Given the description of an element on the screen output the (x, y) to click on. 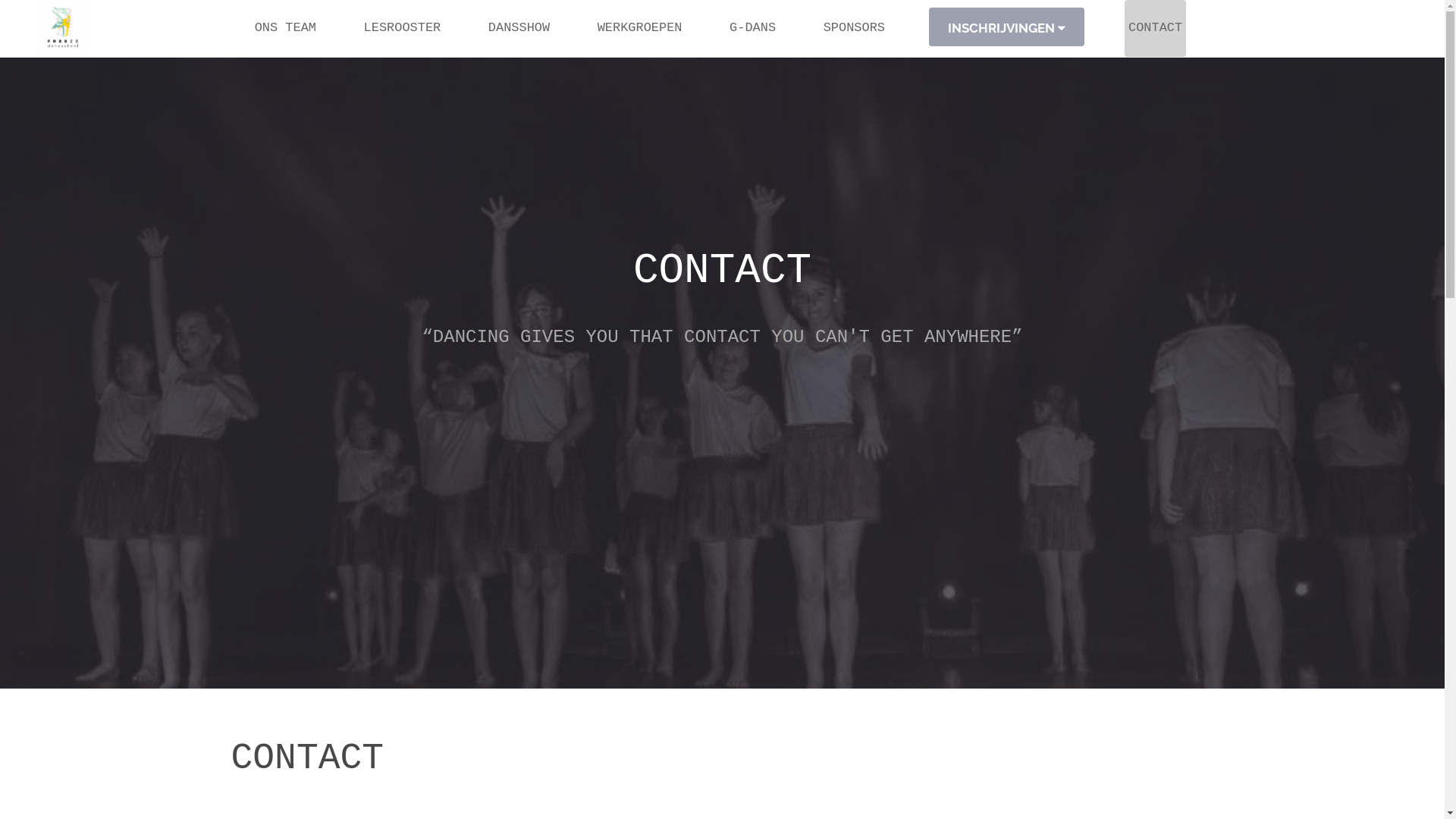
G-DANS Element type: text (752, 28)
CONTACT Element type: text (1155, 28)
DANSSHOW Element type: text (518, 28)
INSCHRIJVINGEN Element type: text (1006, 26)
ONS TEAM Element type: text (285, 28)
WERKGROEPEN Element type: text (639, 28)
LESROOSTER Element type: text (402, 28)
SPONSORS Element type: text (853, 28)
